Given the description of an element on the screen output the (x, y) to click on. 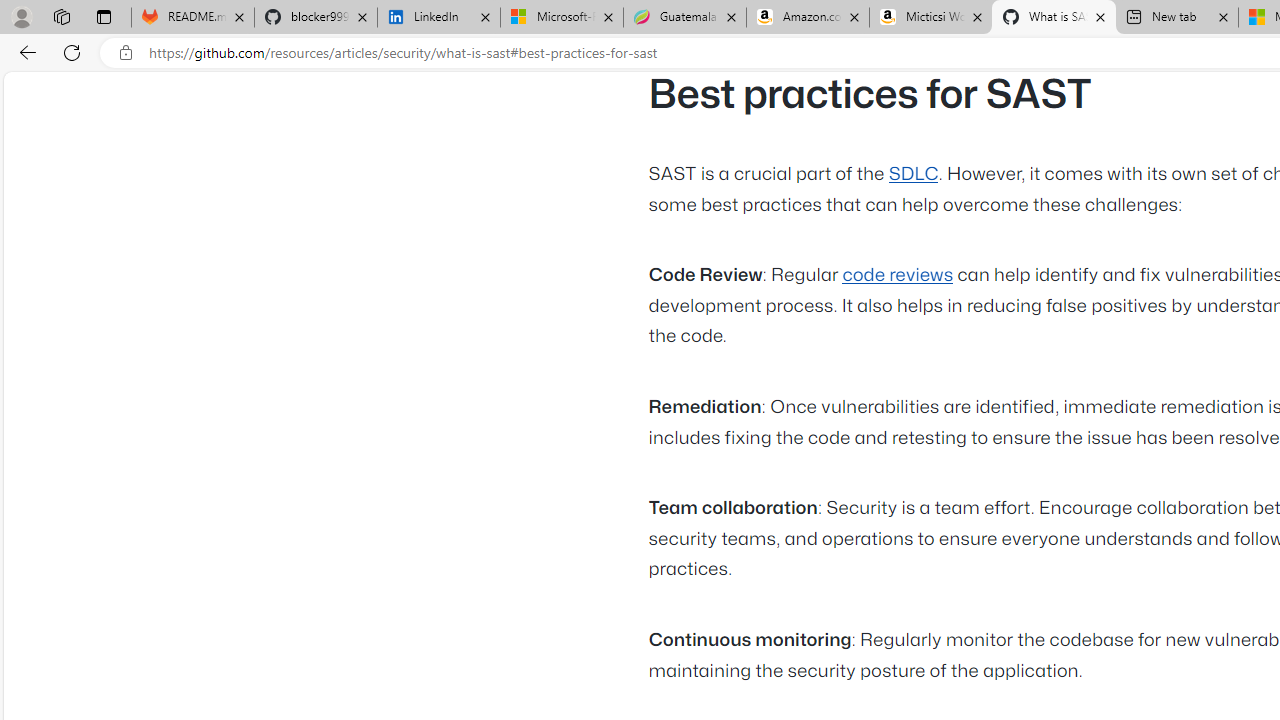
code reviews (897, 276)
SDLC (913, 174)
LinkedIn (438, 17)
